Given the description of an element on the screen output the (x, y) to click on. 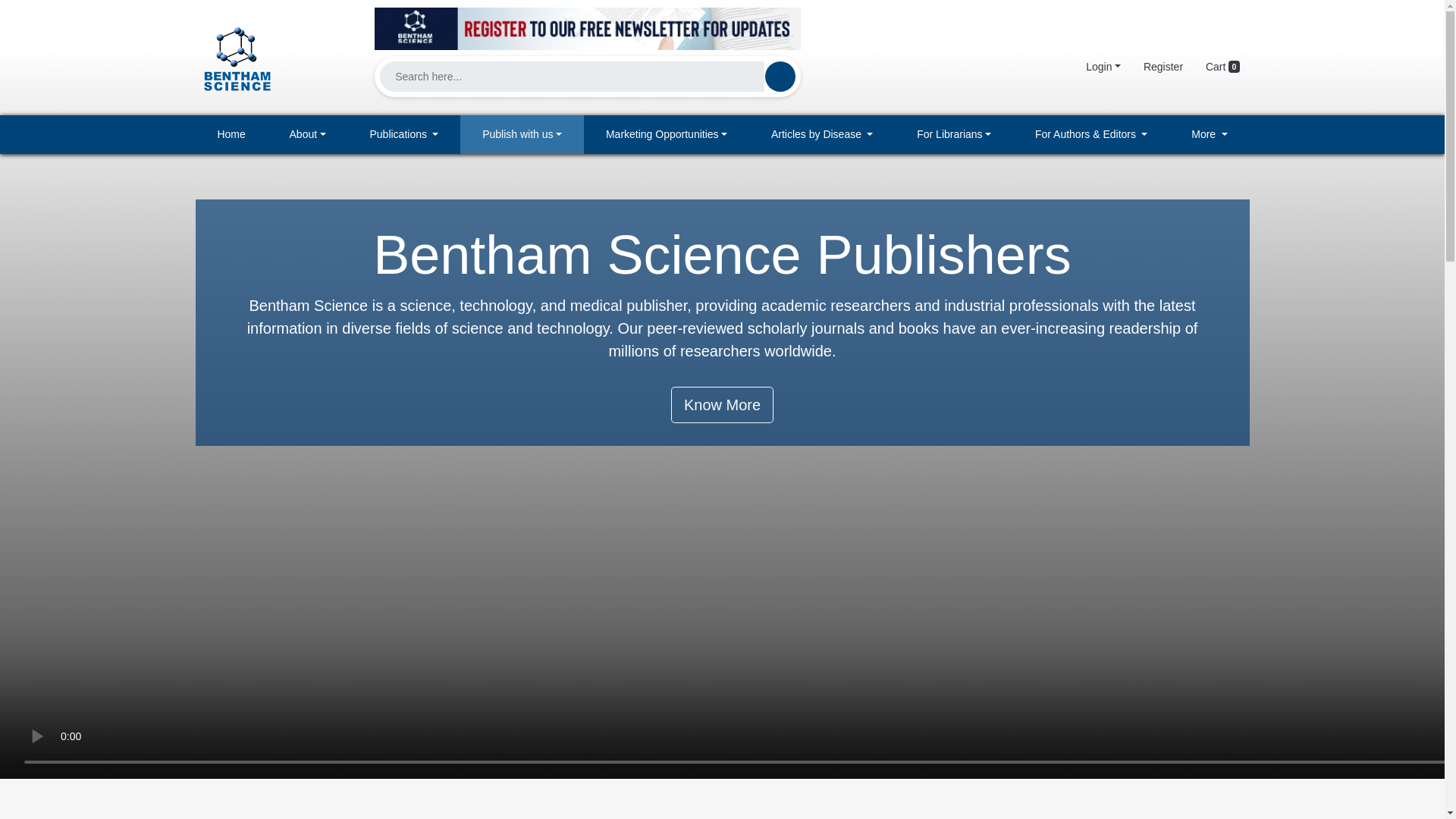
Home (231, 134)
Search anything here (779, 76)
About (307, 134)
Login (1103, 67)
Publications (404, 134)
Register (1163, 67)
newsletter banner (587, 24)
Search Button (779, 76)
Cart 0 (1222, 67)
newsletter banner (587, 28)
